Given the description of an element on the screen output the (x, y) to click on. 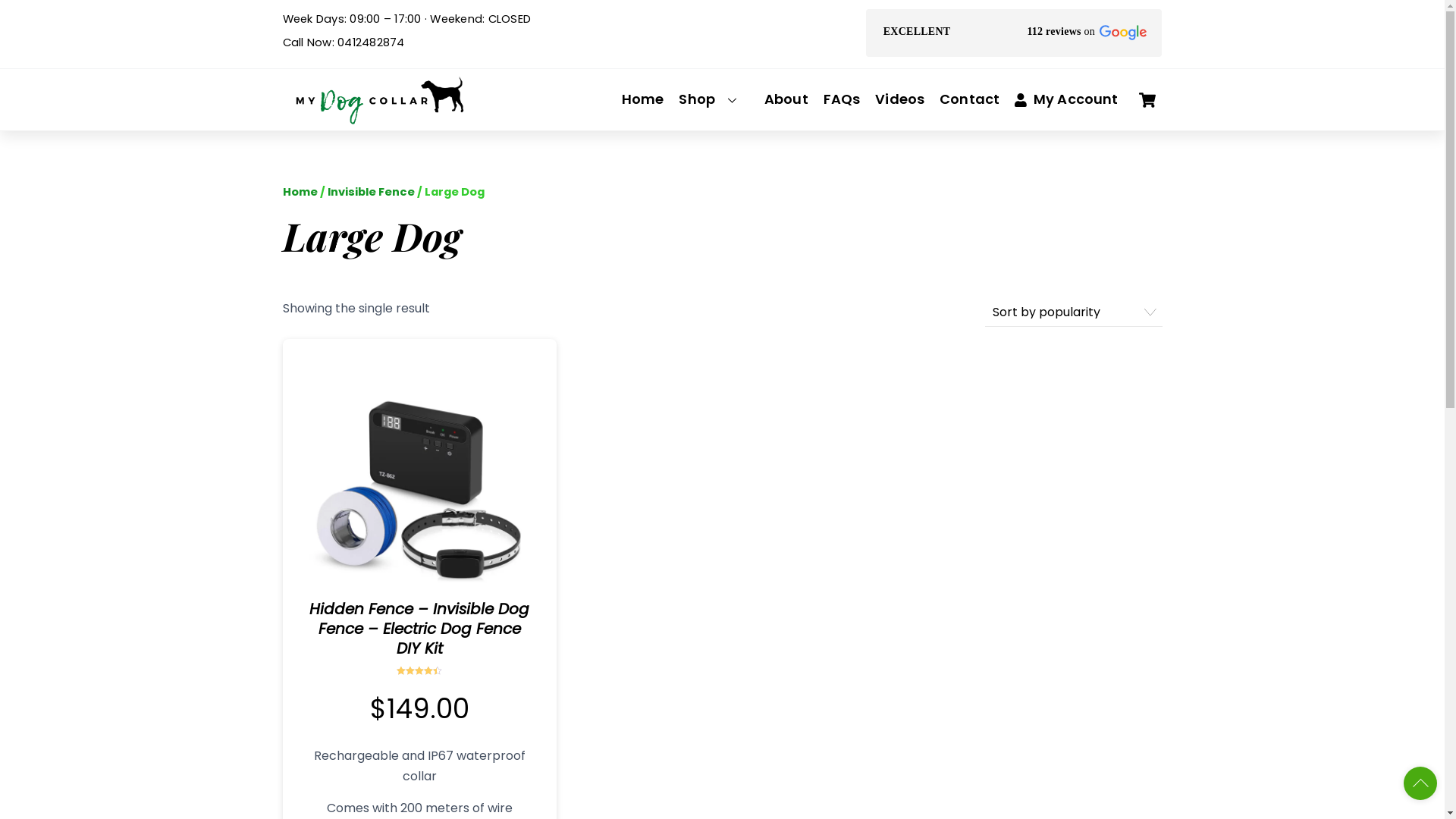
My Dog Collar Element type: hover (376, 115)
TZ-862 Electric Dog Fence System Element type: hover (419, 475)
EXCELLENT
112 reviews on Element type: text (1013, 32)
Videos Element type: text (899, 99)
Contact Element type: text (969, 99)
My Dog Collar LOGO Element type: hover (376, 99)
Home Element type: text (299, 191)
Cart Element type: text (1146, 99)
Home Element type: text (642, 99)
Invisible Fence Element type: text (370, 191)
My Account Element type: text (1065, 99)
FAQs Element type: text (841, 99)
Shop Element type: text (713, 99)
About Element type: text (786, 99)
